Given the description of an element on the screen output the (x, y) to click on. 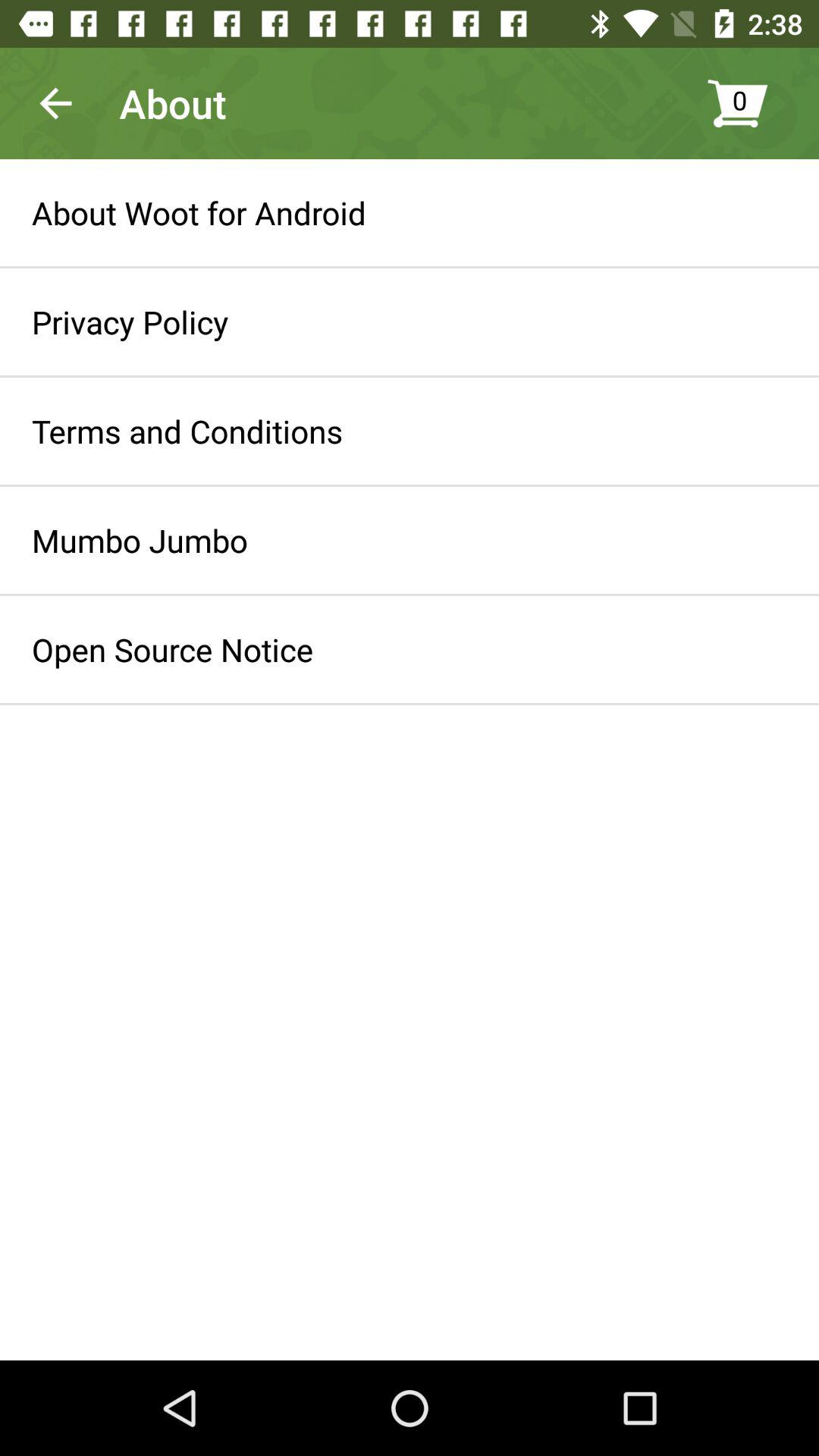
open the item below the about woot for (129, 321)
